Given the description of an element on the screen output the (x, y) to click on. 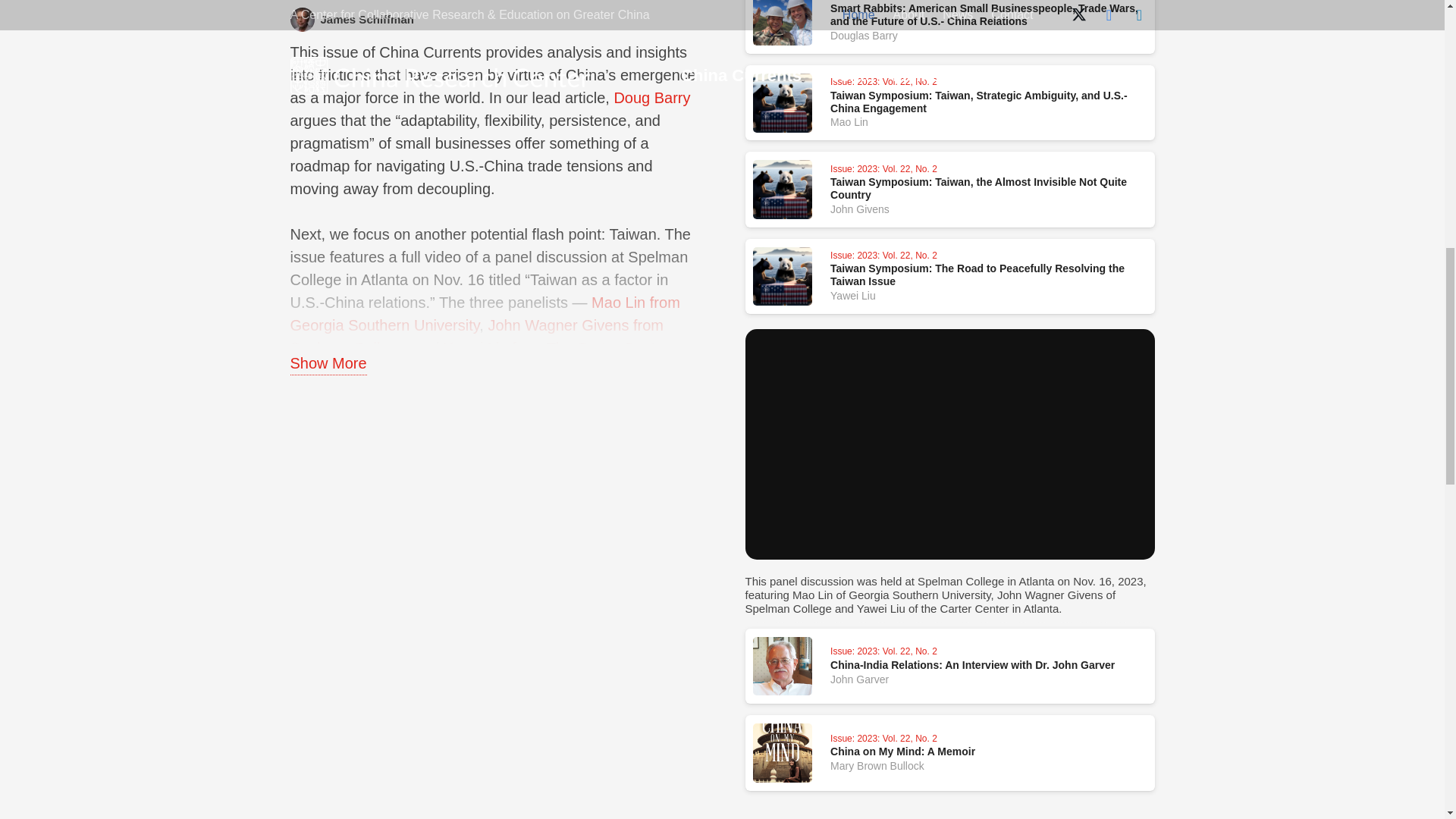
Mao Lin from Georgia Southern University (484, 313)
Doug Barry (651, 97)
Yawei Liu from The Carter Center (556, 347)
Youtube video player (949, 444)
Show More (327, 363)
Back to top (1413, 26)
John Wagner Givens from Spelman College (475, 336)
James Schiffman (509, 19)
